Given the description of an element on the screen output the (x, y) to click on. 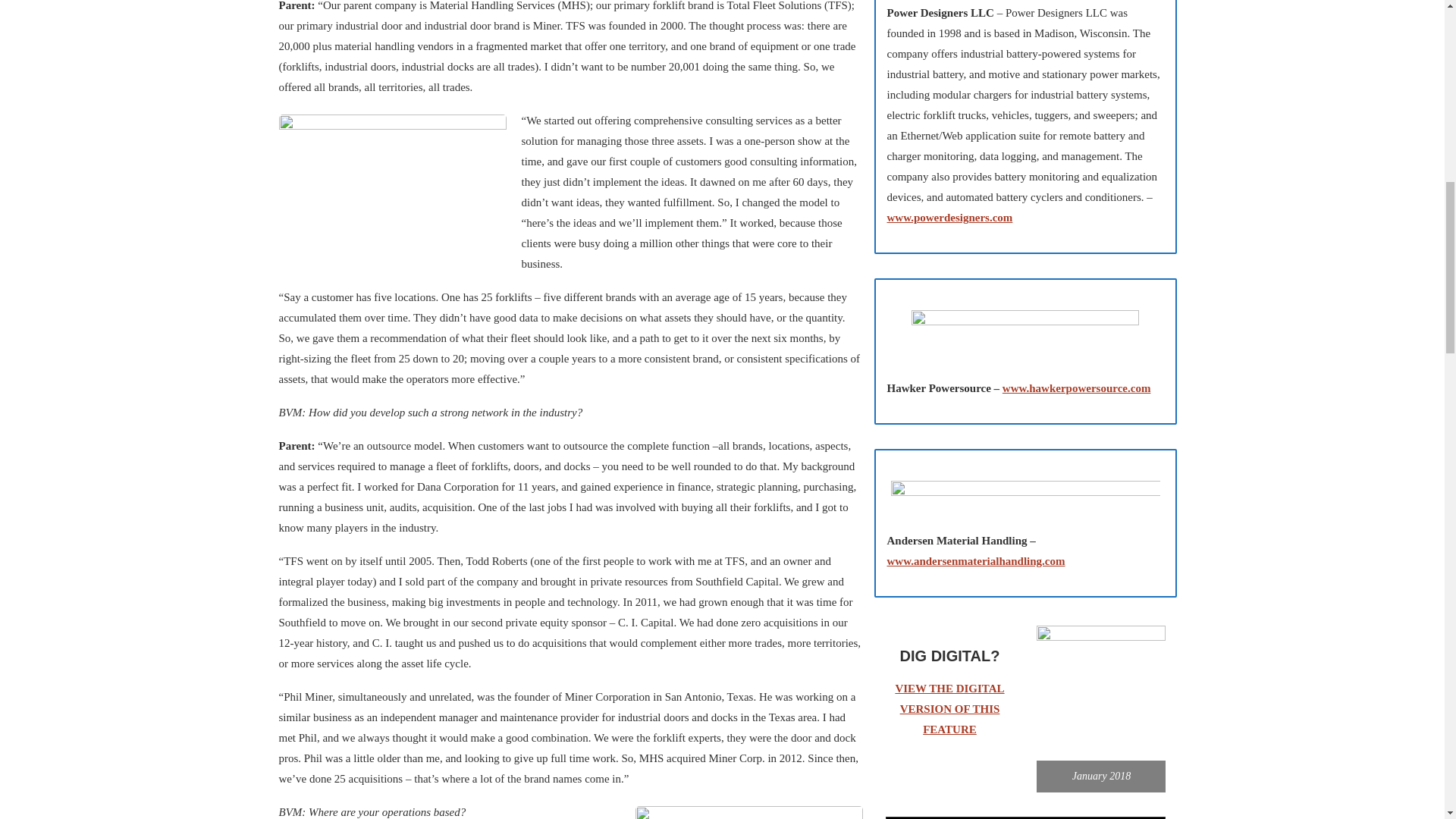
www.powerdesigners.com (949, 217)
www.andersenmaterialhandling.com (975, 561)
www.hawkerpowersource.com (1077, 387)
VIEW THE DIGITAL VERSION OF THIS FEATURE (949, 708)
